Given the description of an element on the screen output the (x, y) to click on. 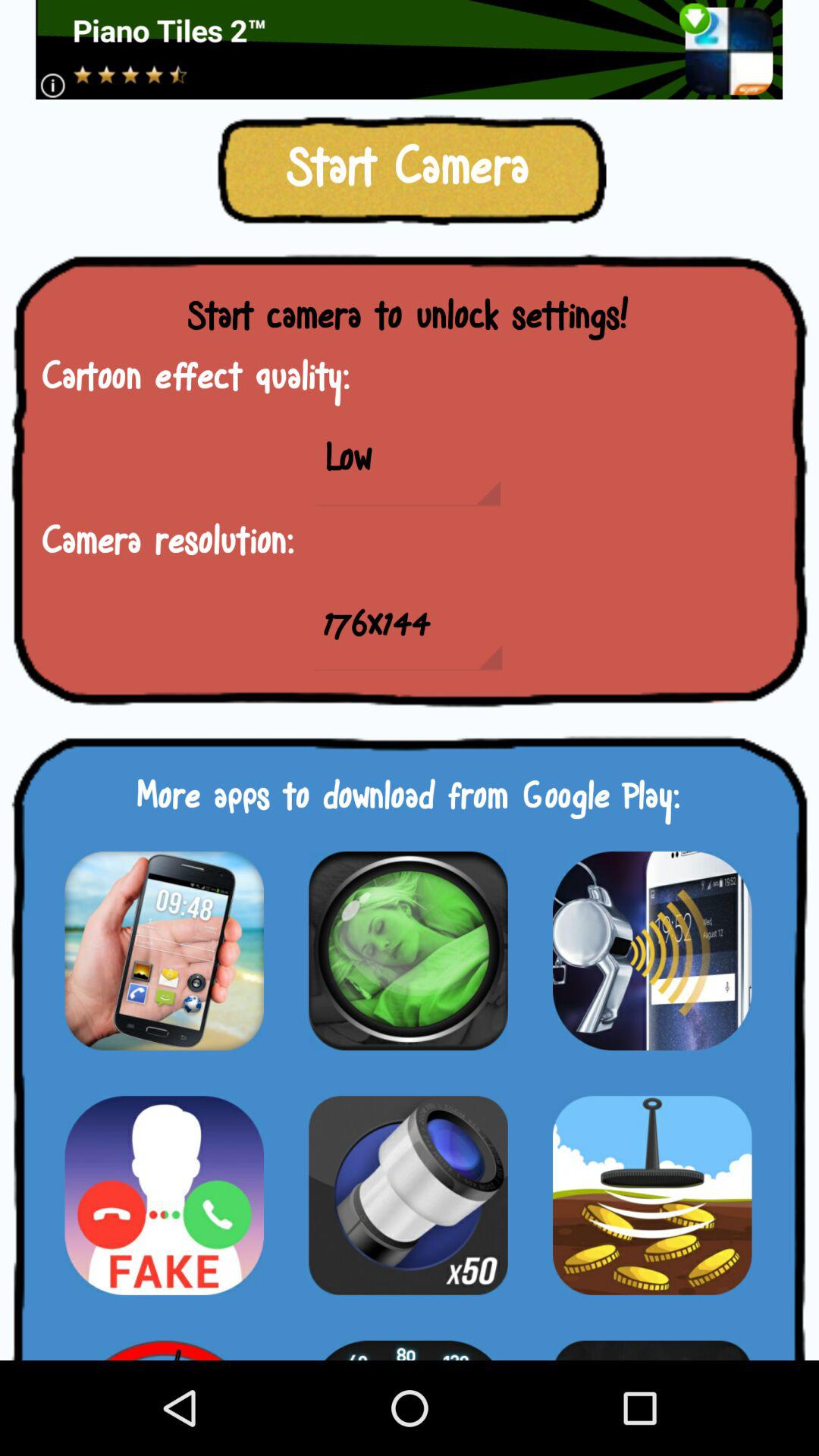
go to aap (408, 950)
